Given the description of an element on the screen output the (x, y) to click on. 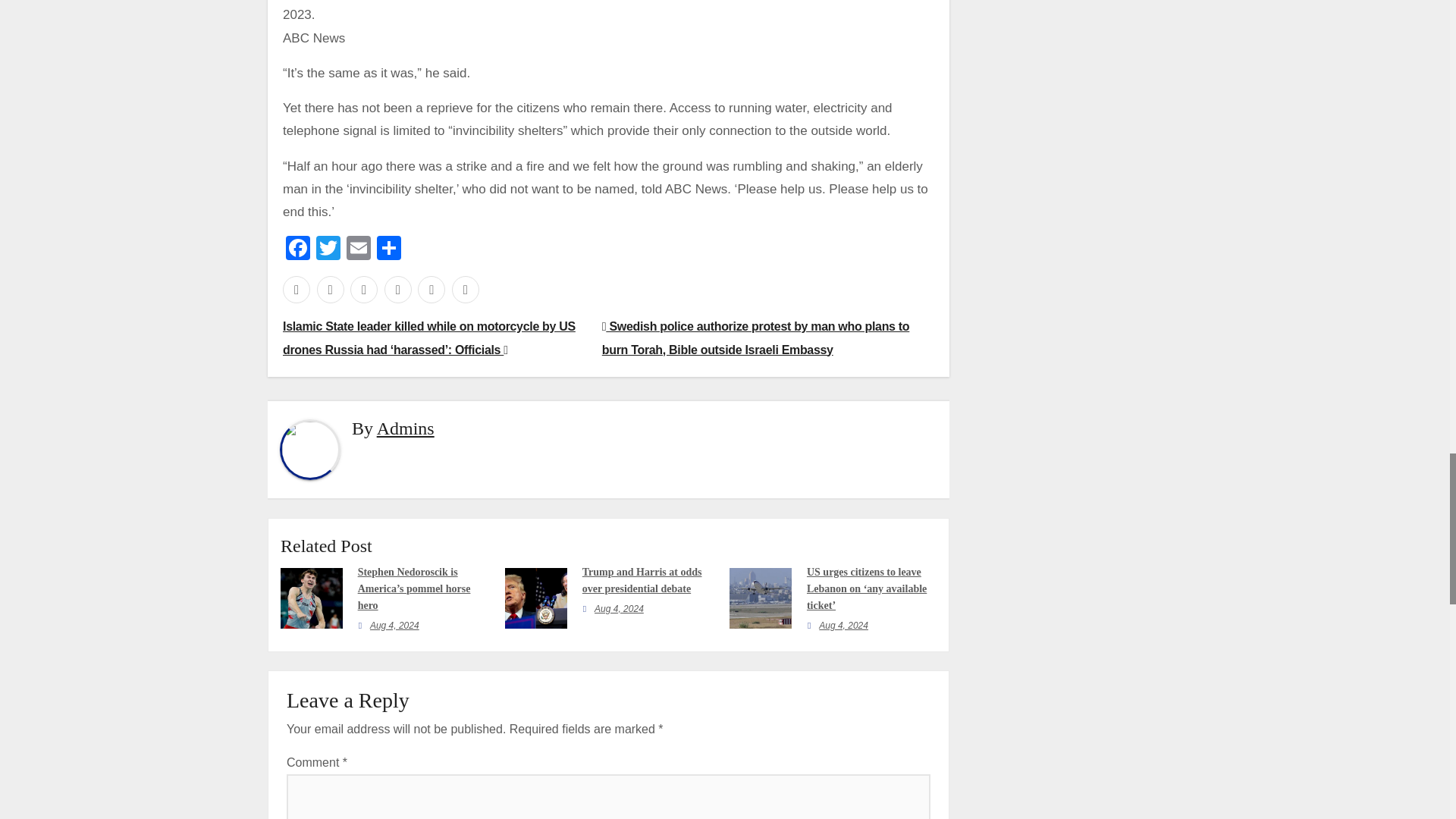
Twitter (328, 249)
Facebook (297, 249)
Email (358, 249)
